Given the description of an element on the screen output the (x, y) to click on. 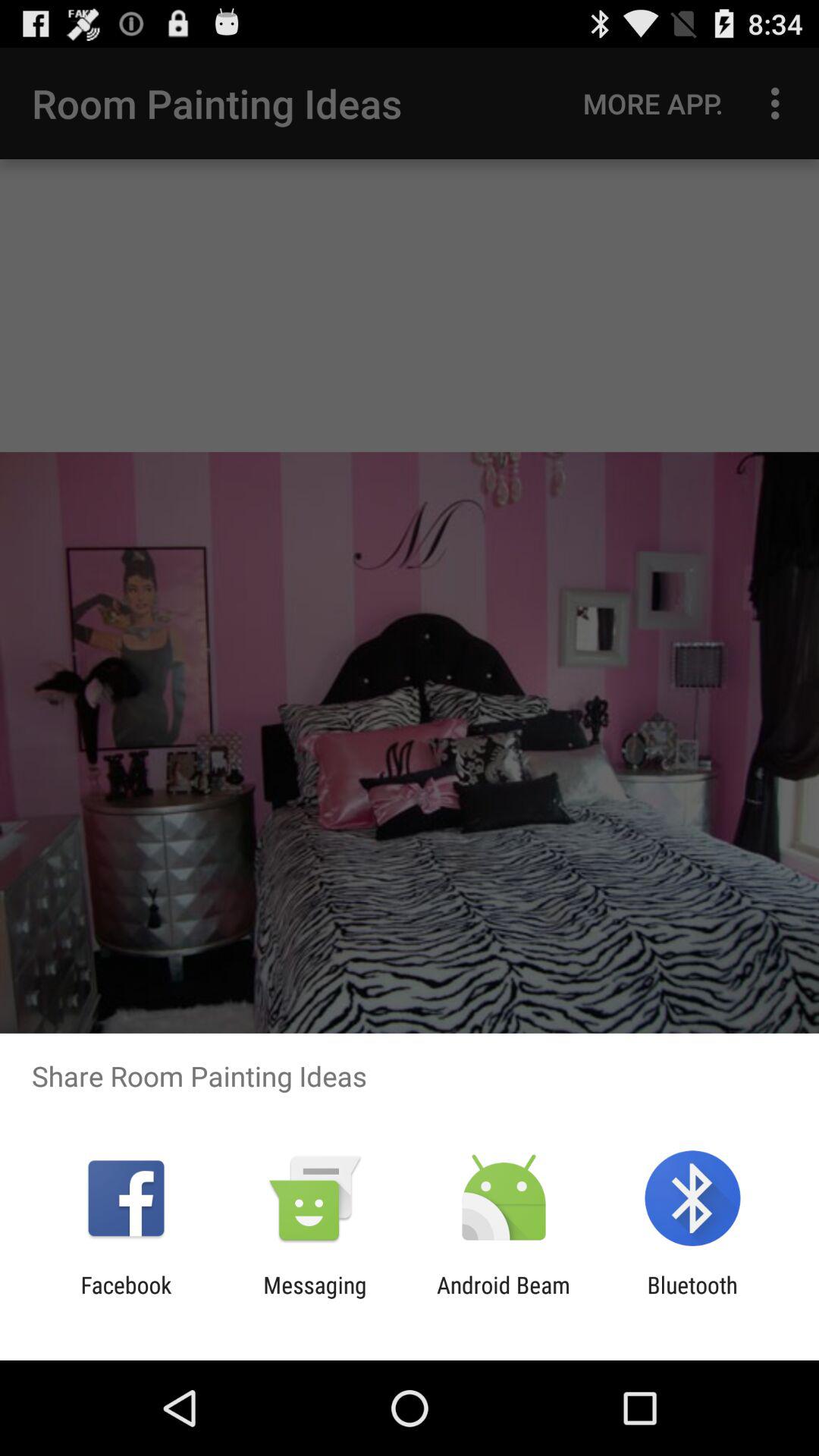
choose item next to messaging app (125, 1298)
